Given the description of an element on the screen output the (x, y) to click on. 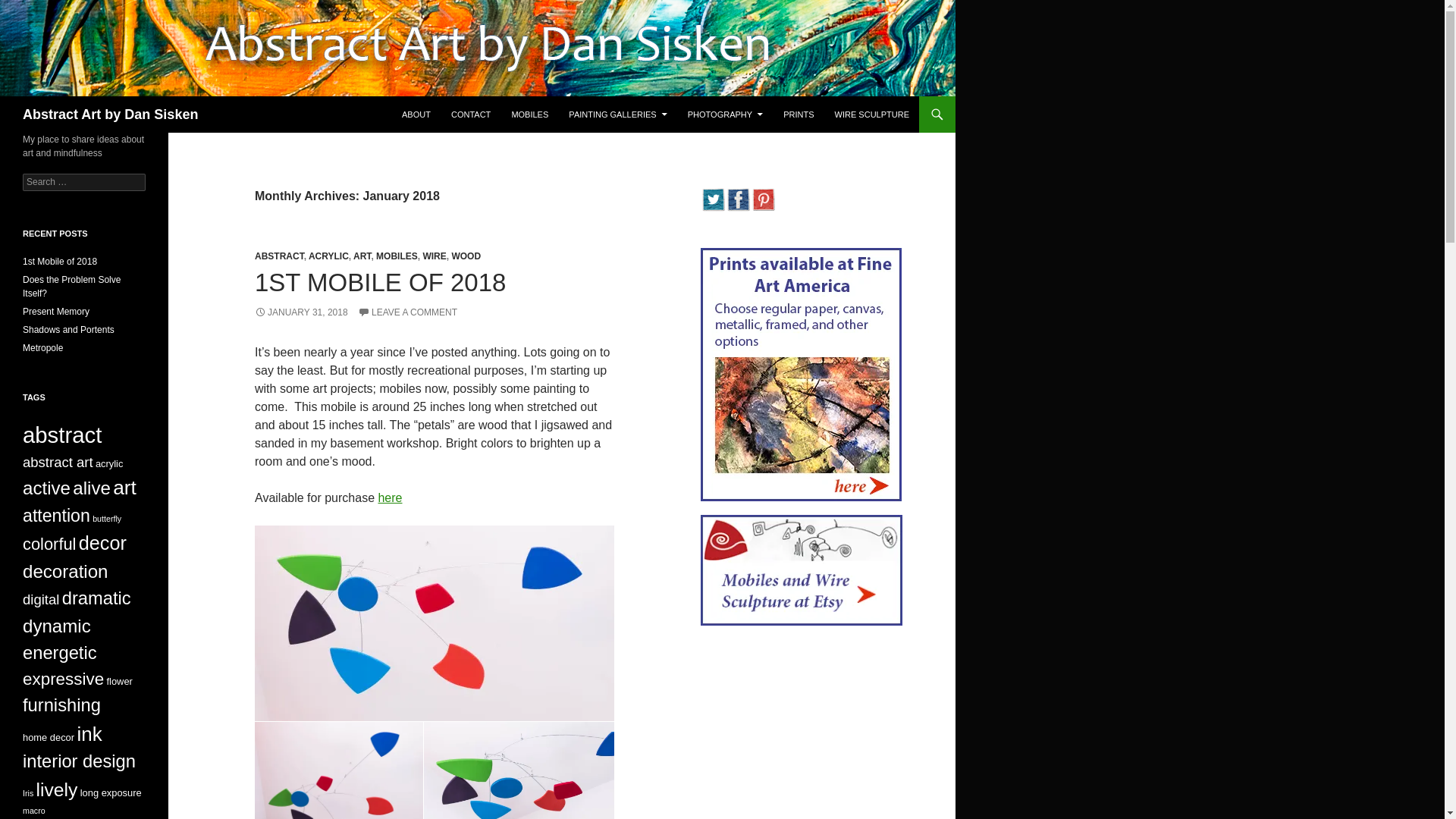
ABSTRACT (279, 255)
MOBILES (396, 255)
Visit Us On Twitter (712, 198)
PHOTOGRAPHY (724, 114)
CONTACT (470, 114)
ABOUT (416, 114)
LEAVE A COMMENT (407, 312)
Abstract Art by Dan Sisken (110, 114)
ART (362, 255)
1ST MOBILE OF 2018 (379, 282)
